Given the description of an element on the screen output the (x, y) to click on. 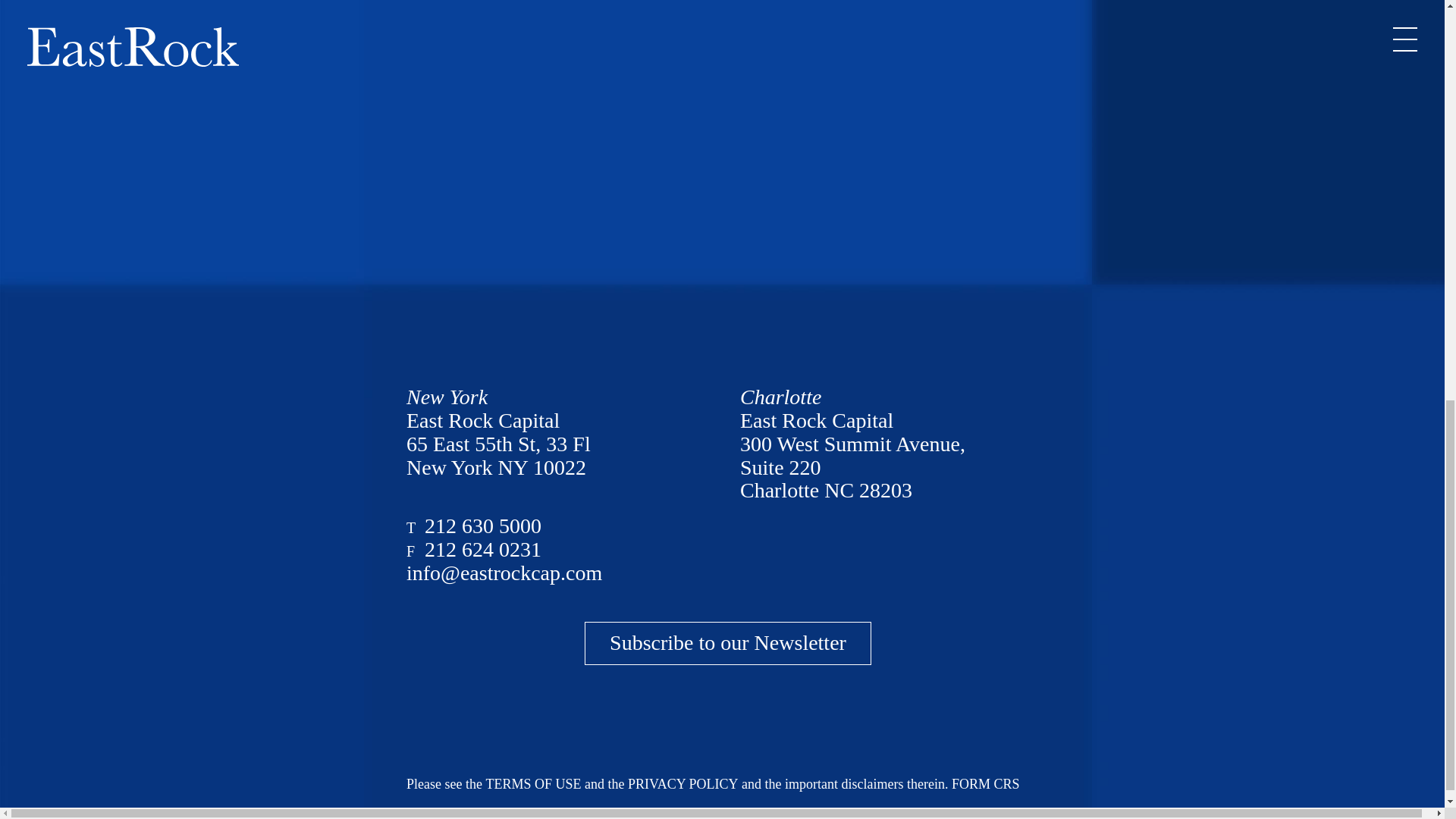
FORM CRS (986, 783)
PRIVACY POLICY (682, 783)
Subscribe to our Newsletter (727, 643)
TERMS OF USE (532, 783)
